Given the description of an element on the screen output the (x, y) to click on. 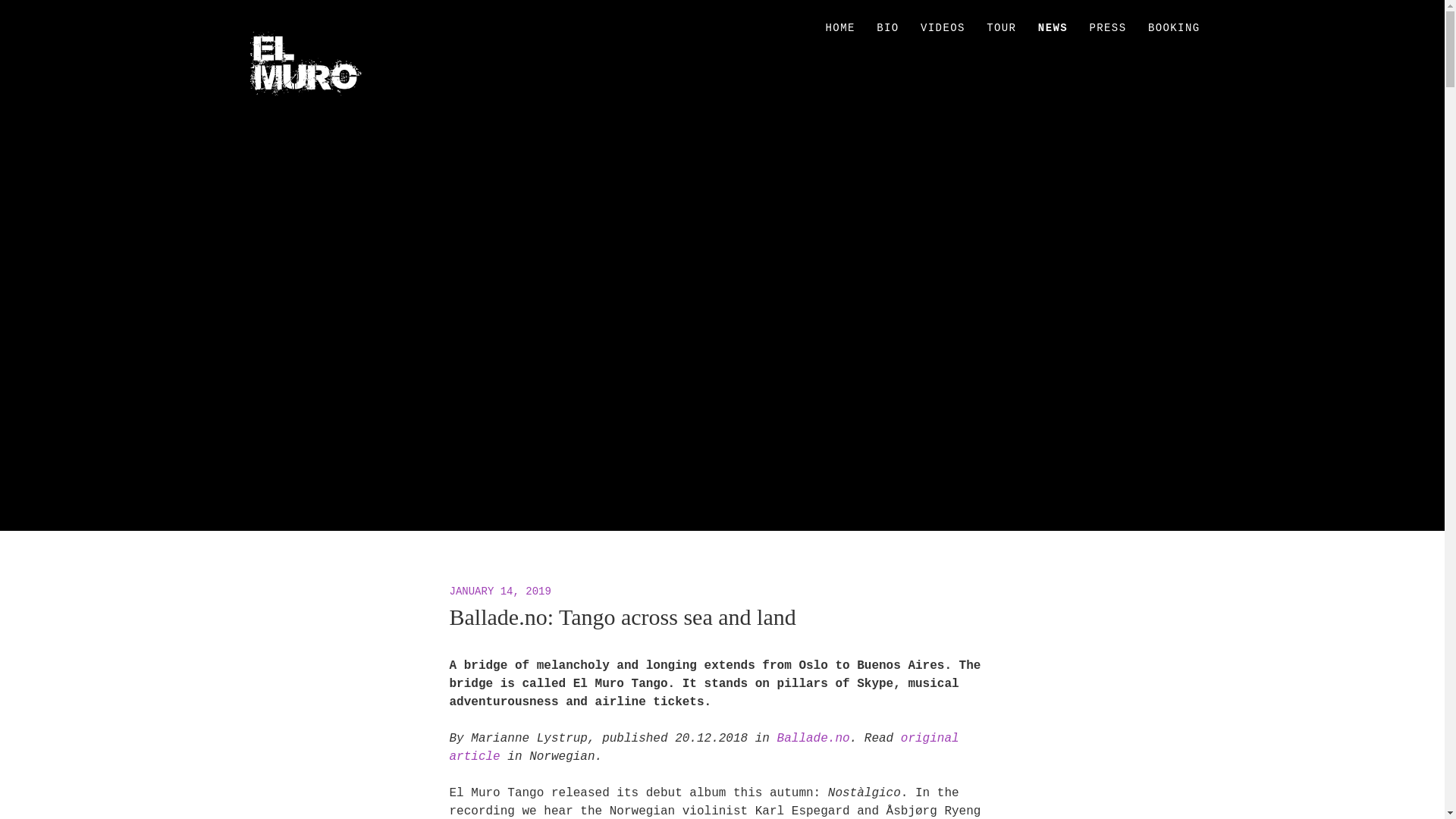
NEWS (1052, 28)
HOME (840, 28)
TOUR (1000, 28)
original article (703, 747)
Ballade.no (813, 738)
VIDEOS (942, 28)
BIO (887, 28)
PRESS (1107, 28)
BOOKING (1174, 28)
JANUARY 14, 2019 (499, 591)
